Given the description of an element on the screen output the (x, y) to click on. 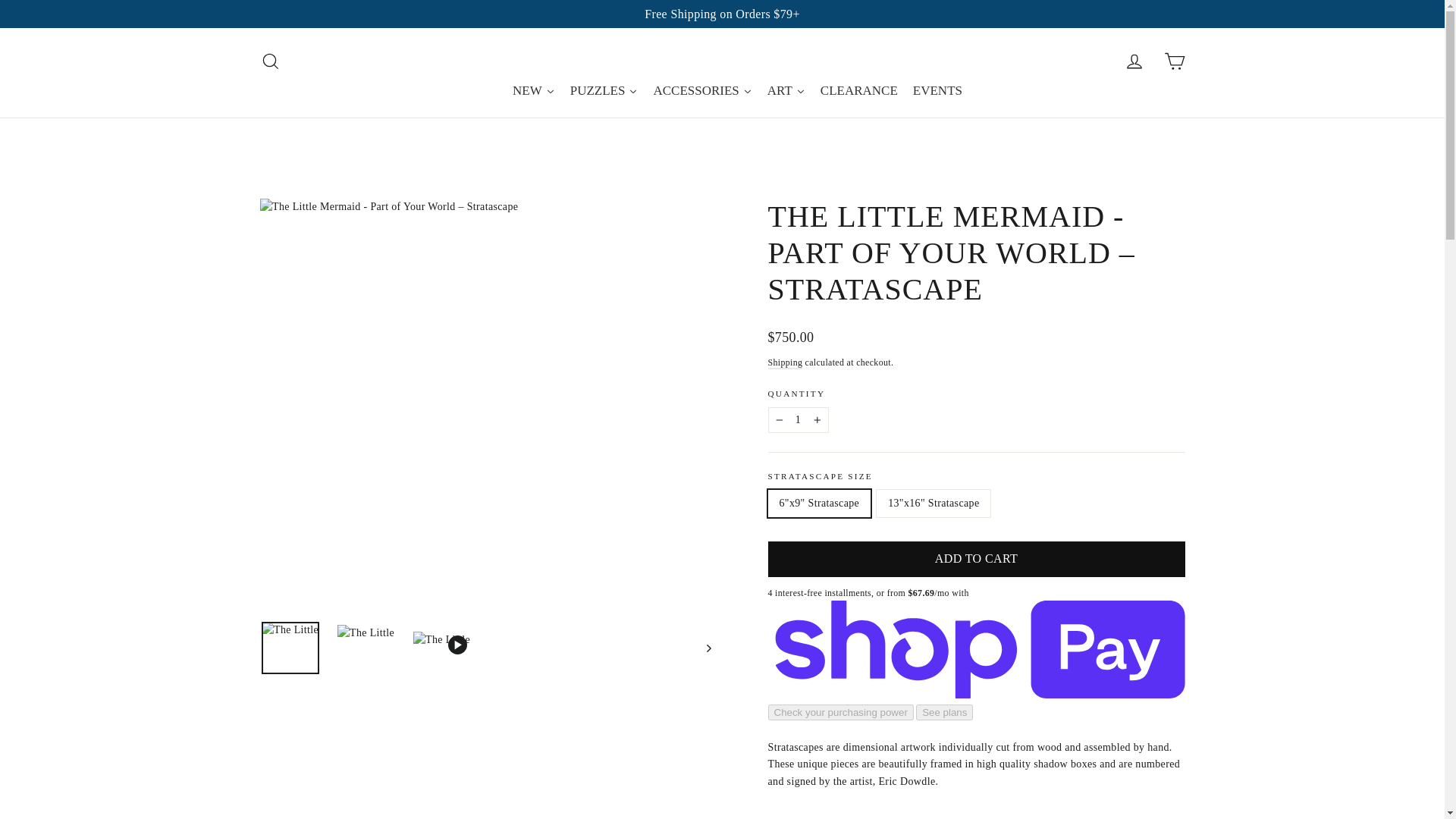
CLEARANCE (858, 90)
ACCOUNT (1134, 61)
ACCESSORIES (701, 90)
PUZZLES (604, 90)
ICON-CART (1174, 61)
NEW (533, 90)
ICON-SEARCH (270, 61)
ART (786, 90)
